Given the description of an element on the screen output the (x, y) to click on. 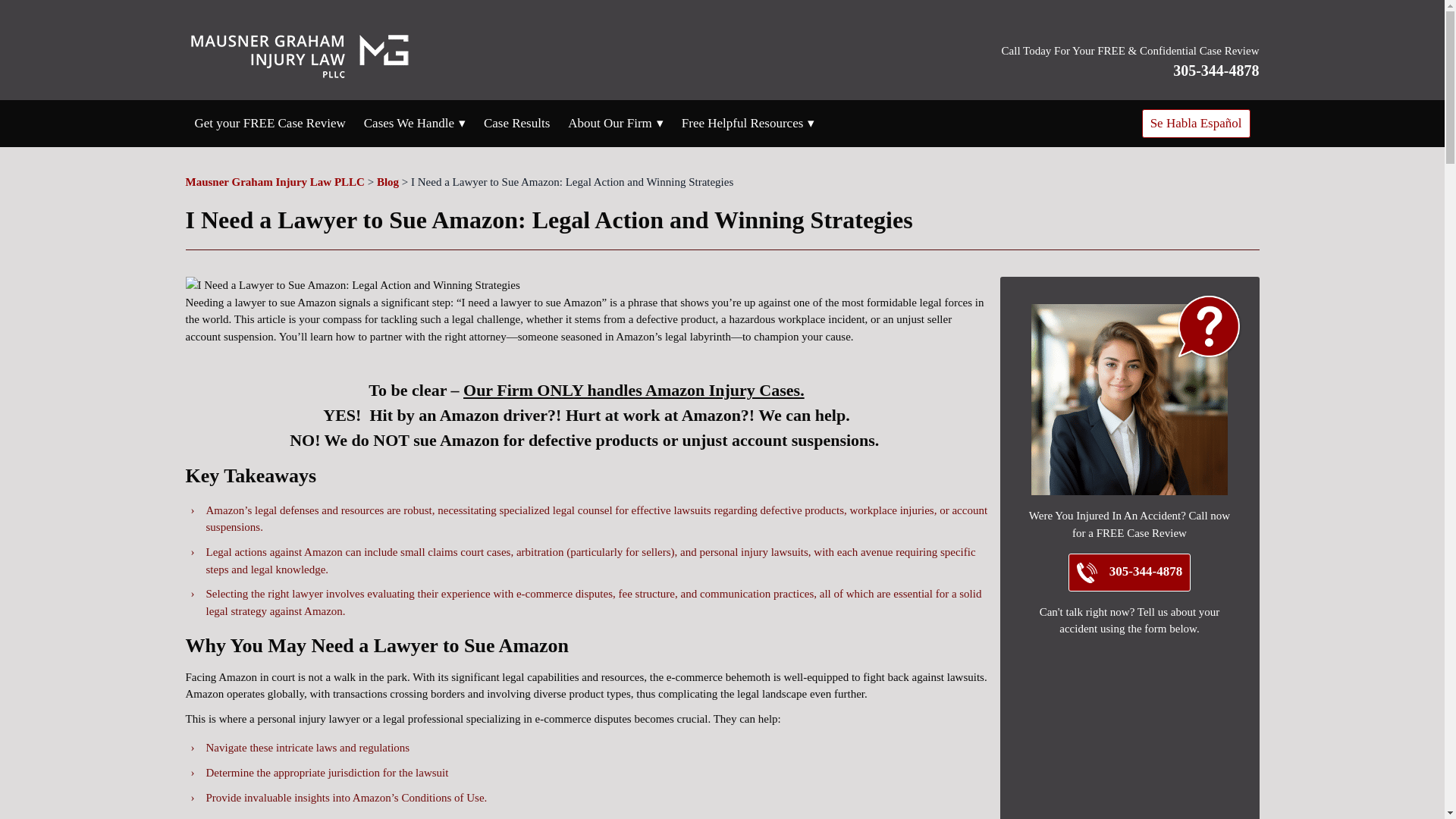
MG Injury Firm's Website Form (1128, 734)
Blog (387, 182)
Free Helpful Resources (742, 123)
305-344-4878 (1216, 70)
Cases We Handle (409, 123)
Case Results (516, 123)
Mausner Graham Injury Law PLLC (274, 182)
Get your FREE Case Review (269, 123)
About Our Firm (609, 123)
